Given the description of an element on the screen output the (x, y) to click on. 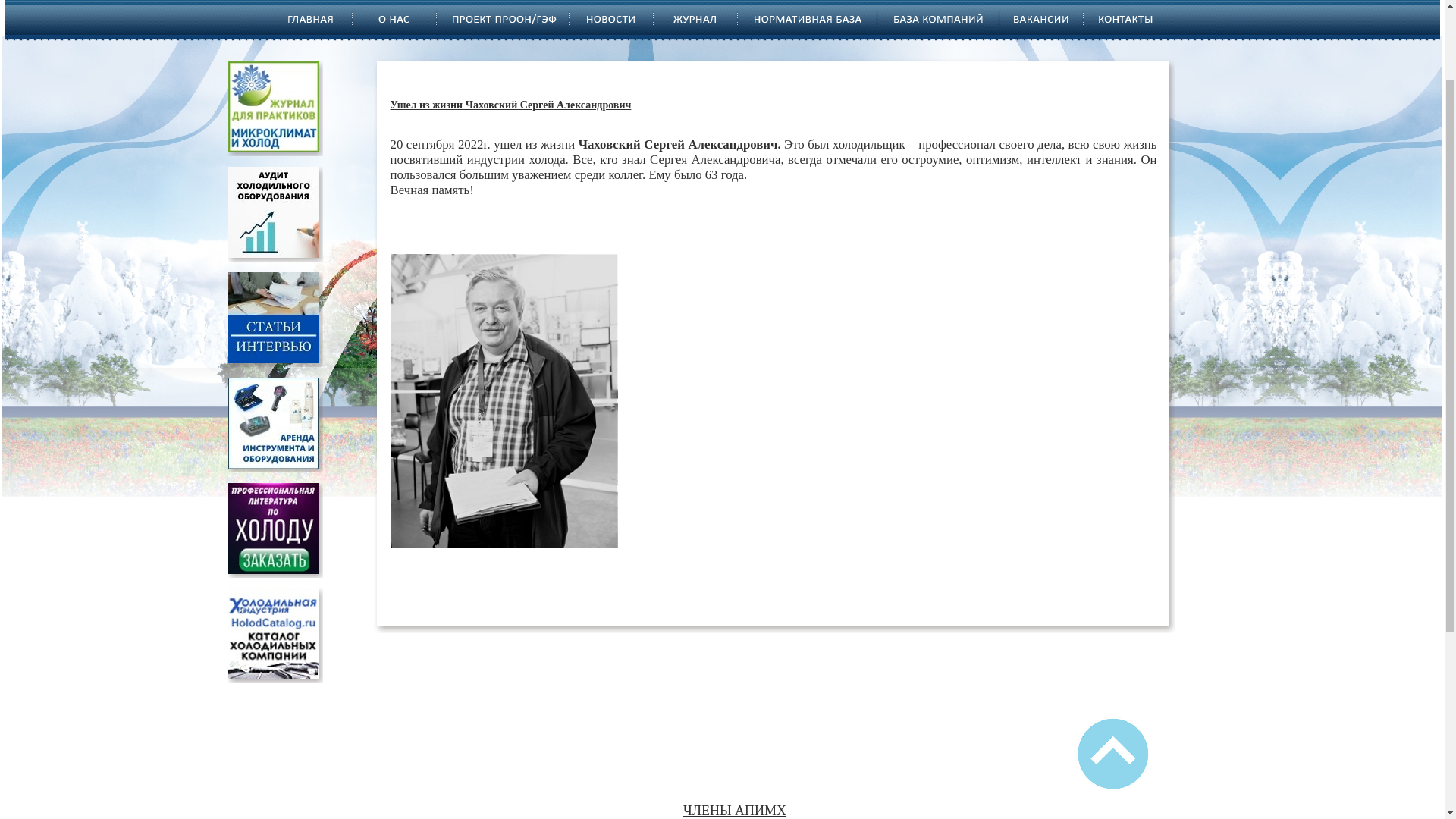
ENG Element type: text (1185, 26)
Search Element type: text (1176, 74)
RUS Element type: text (1184, 45)
